Given the description of an element on the screen output the (x, y) to click on. 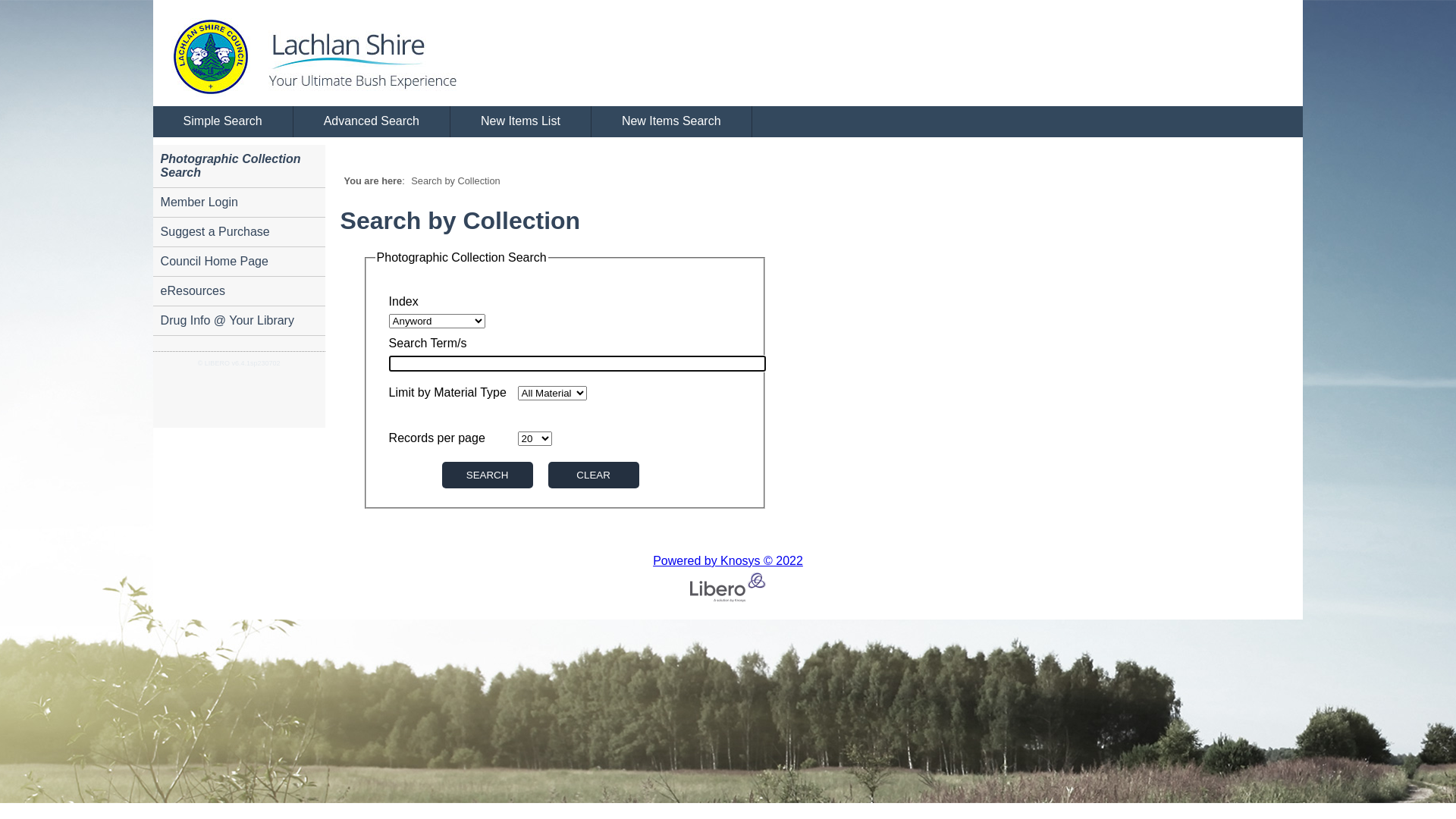
Drug Info @ Your Library Element type: text (239, 320)
Photographic Collection Search Element type: text (239, 166)
Alt-2 Element type: hover (593, 474)
SEARCH Element type: text (487, 474)
Advanced Search Element type: text (371, 122)
Suggest a Purchase Element type: text (239, 232)
Simple Search Element type: text (223, 122)
New Items List Element type: text (520, 122)
Council Home Page Element type: text (239, 261)
New Items Search Element type: text (671, 122)
Visit Libero WebOPAC Element type: hover (292, 53)
Alt-1 Element type: hover (487, 474)
Member Login Element type: text (239, 202)
eResources Element type: text (239, 291)
